Given the description of an element on the screen output the (x, y) to click on. 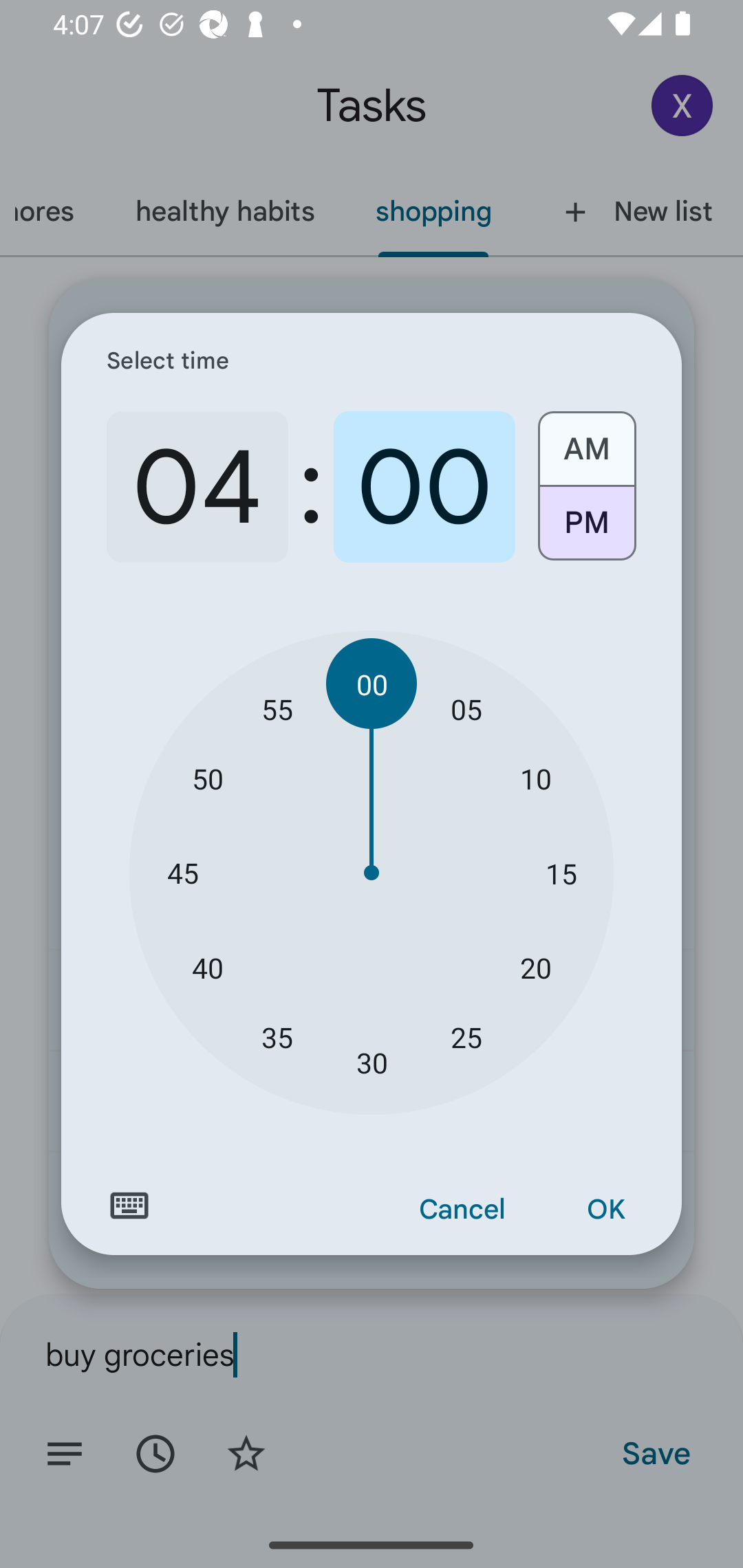
AM (586, 441)
04 4 o'clock (197, 486)
00 0 minutes (424, 486)
PM (586, 529)
00 00 minutes (371, 683)
55 55 minutes (276, 708)
05 05 minutes (466, 708)
50 50 minutes (207, 778)
10 10 minutes (535, 778)
45 45 minutes (182, 872)
15 15 minutes (561, 872)
40 40 minutes (207, 966)
20 20 minutes (535, 966)
35 35 minutes (276, 1035)
25 25 minutes (466, 1035)
30 30 minutes (371, 1062)
Switch to text input mode for the time input. (128, 1205)
Cancel (462, 1209)
OK (605, 1209)
